Given the description of an element on the screen output the (x, y) to click on. 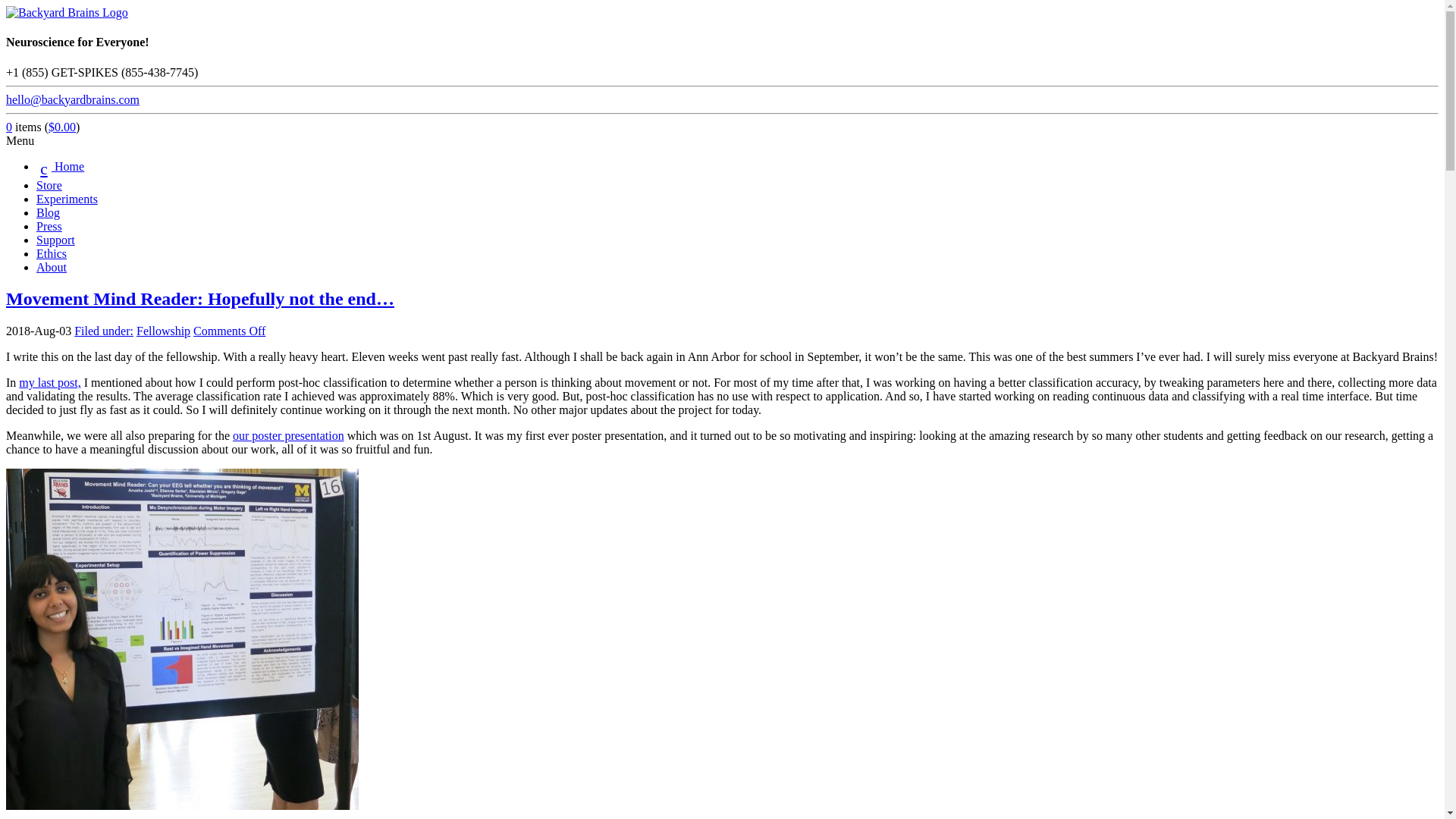
Filed under: (103, 330)
Store (49, 185)
Experiments (66, 198)
Comments Off (228, 330)
Menu (19, 140)
Fellowship (163, 330)
our poster presentation (287, 435)
Ethics (51, 253)
my last post, (49, 382)
Blog (47, 212)
Home (60, 165)
Press (49, 226)
Support (55, 239)
About (51, 267)
